Given the description of an element on the screen output the (x, y) to click on. 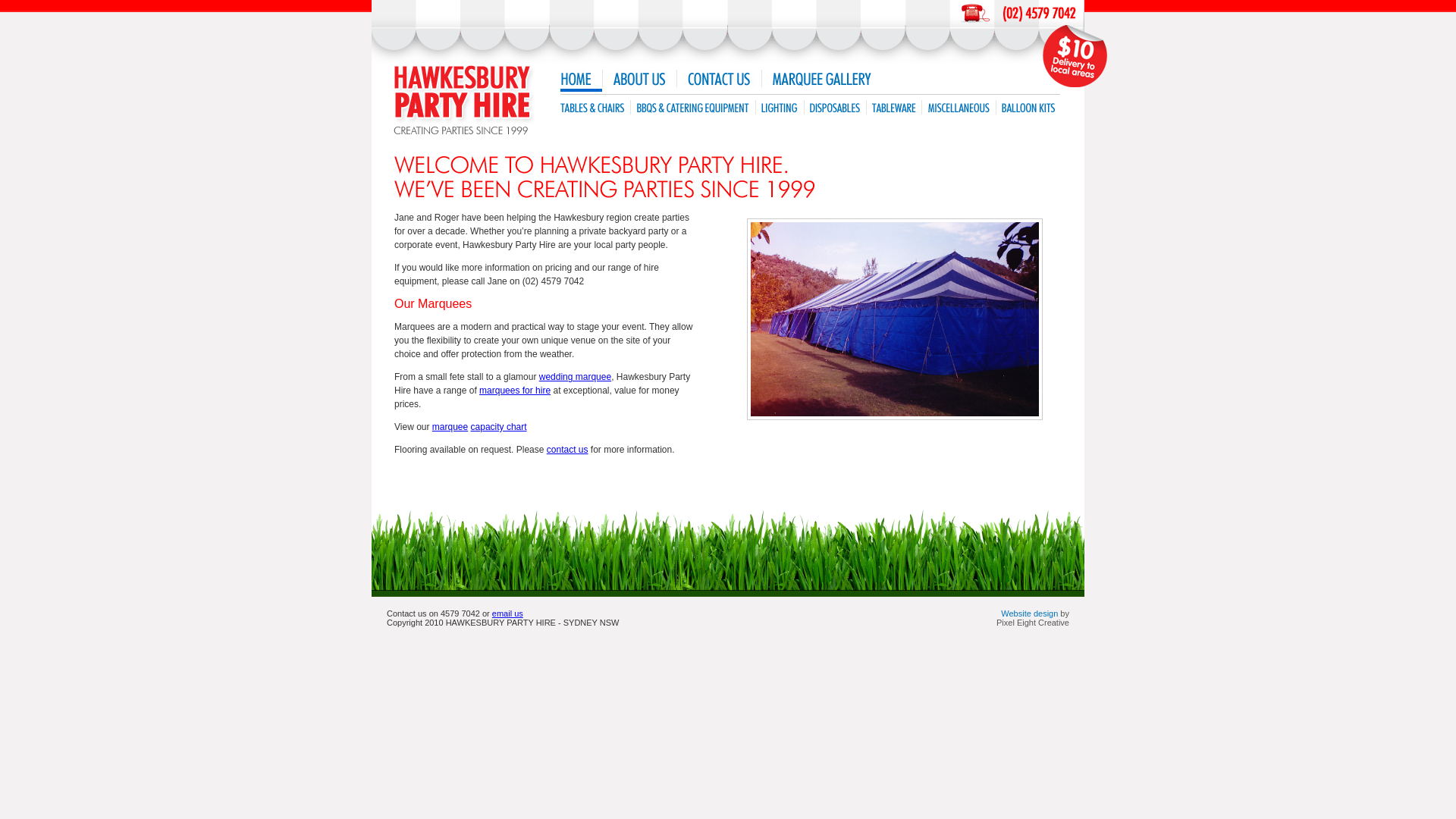
marquees for hire Element type: text (514, 390)
capacity chart Element type: text (498, 426)
contact us Element type: text (567, 449)
marquee Element type: text (449, 426)
email us Element type: text (507, 613)
Website design Element type: text (1029, 613)
wedding marquee Element type: text (575, 376)
